Given the description of an element on the screen output the (x, y) to click on. 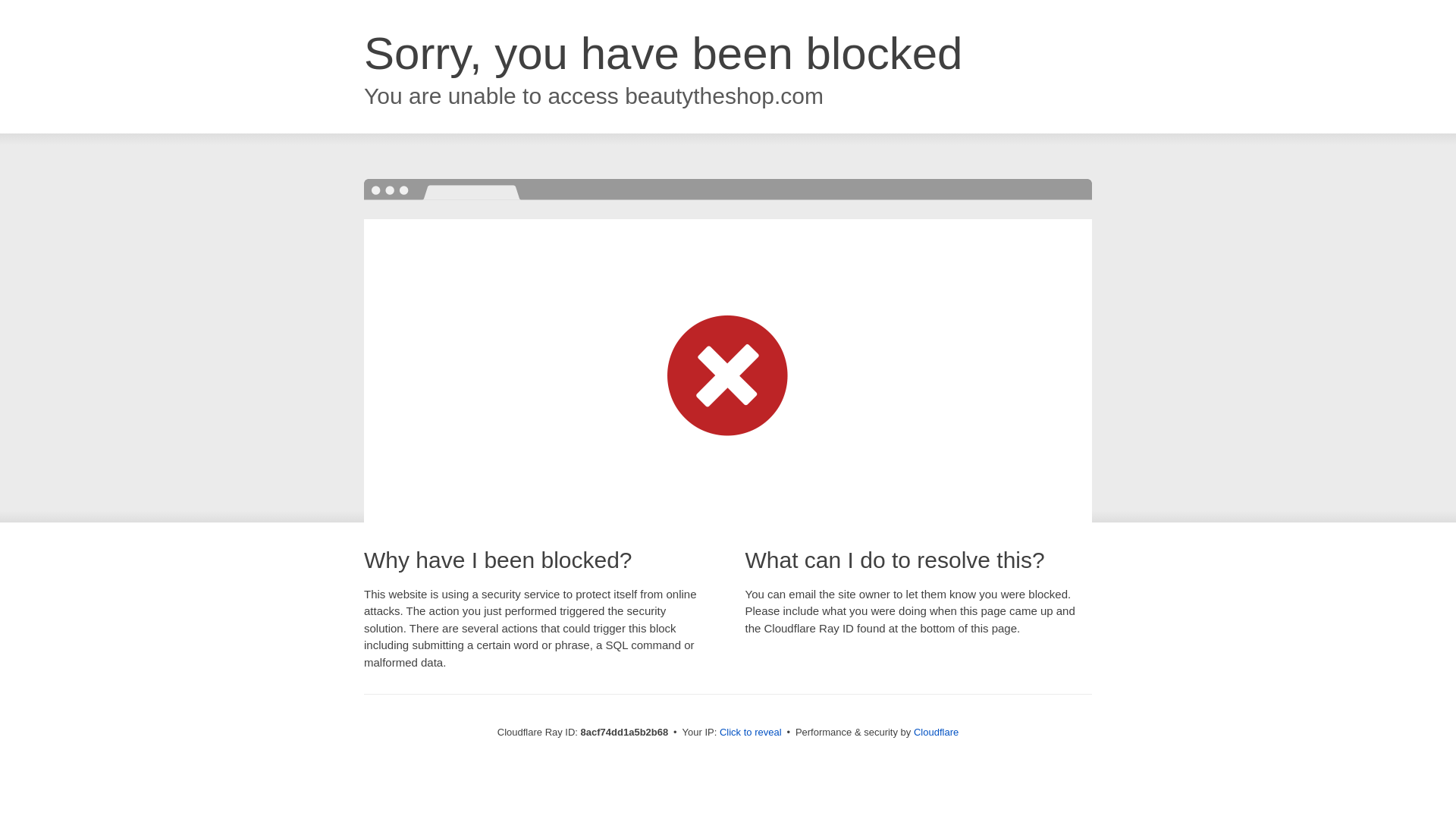
Click to reveal (750, 732)
Cloudflare (936, 731)
